Given the description of an element on the screen output the (x, y) to click on. 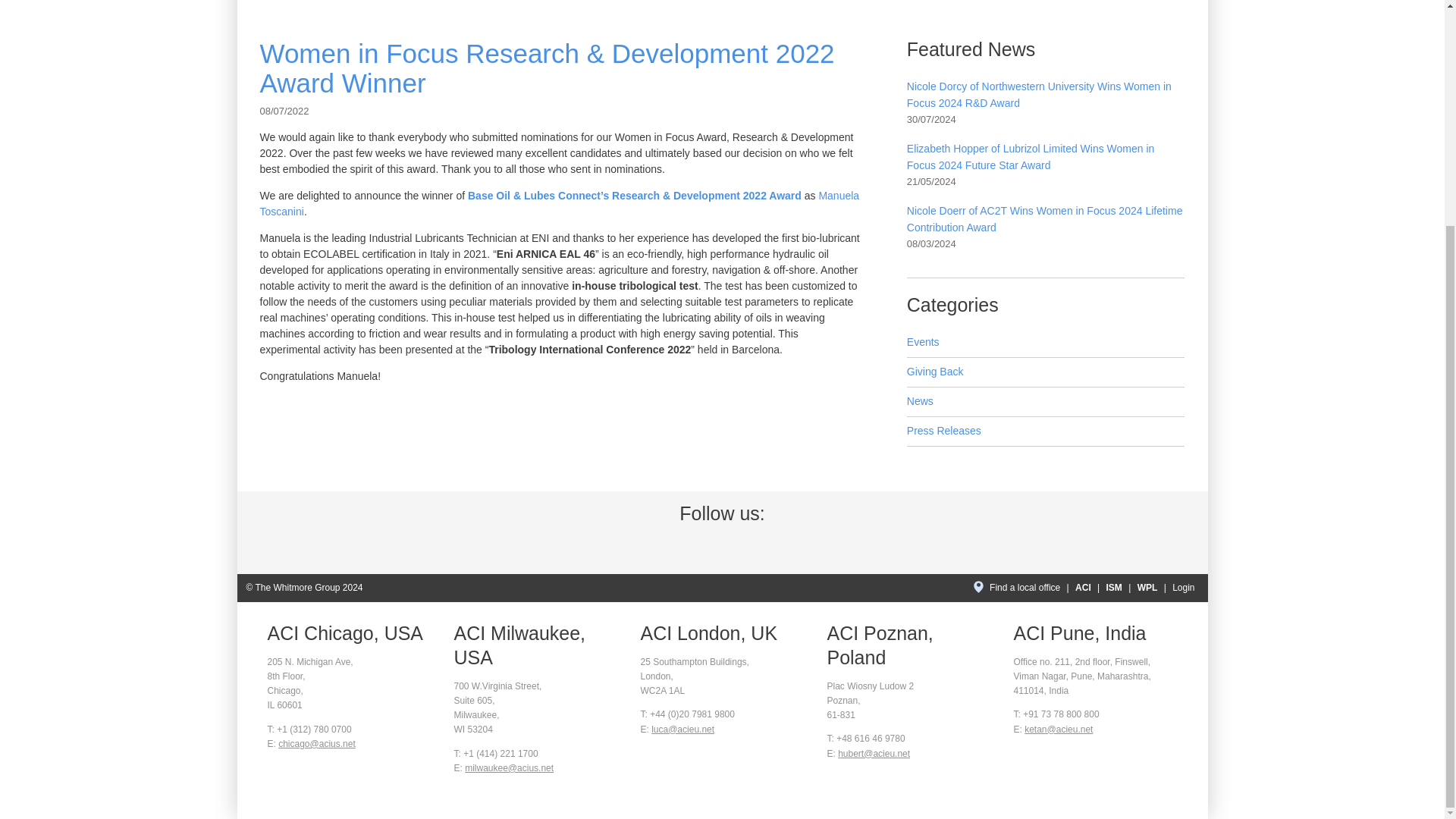
Manuela Toscanini (559, 203)
Twitter (694, 541)
Events (1046, 342)
News (1046, 401)
Login (1182, 587)
LinkedIn (754, 541)
Facebook (724, 541)
Giving Back (1046, 371)
